Given the description of an element on the screen output the (x, y) to click on. 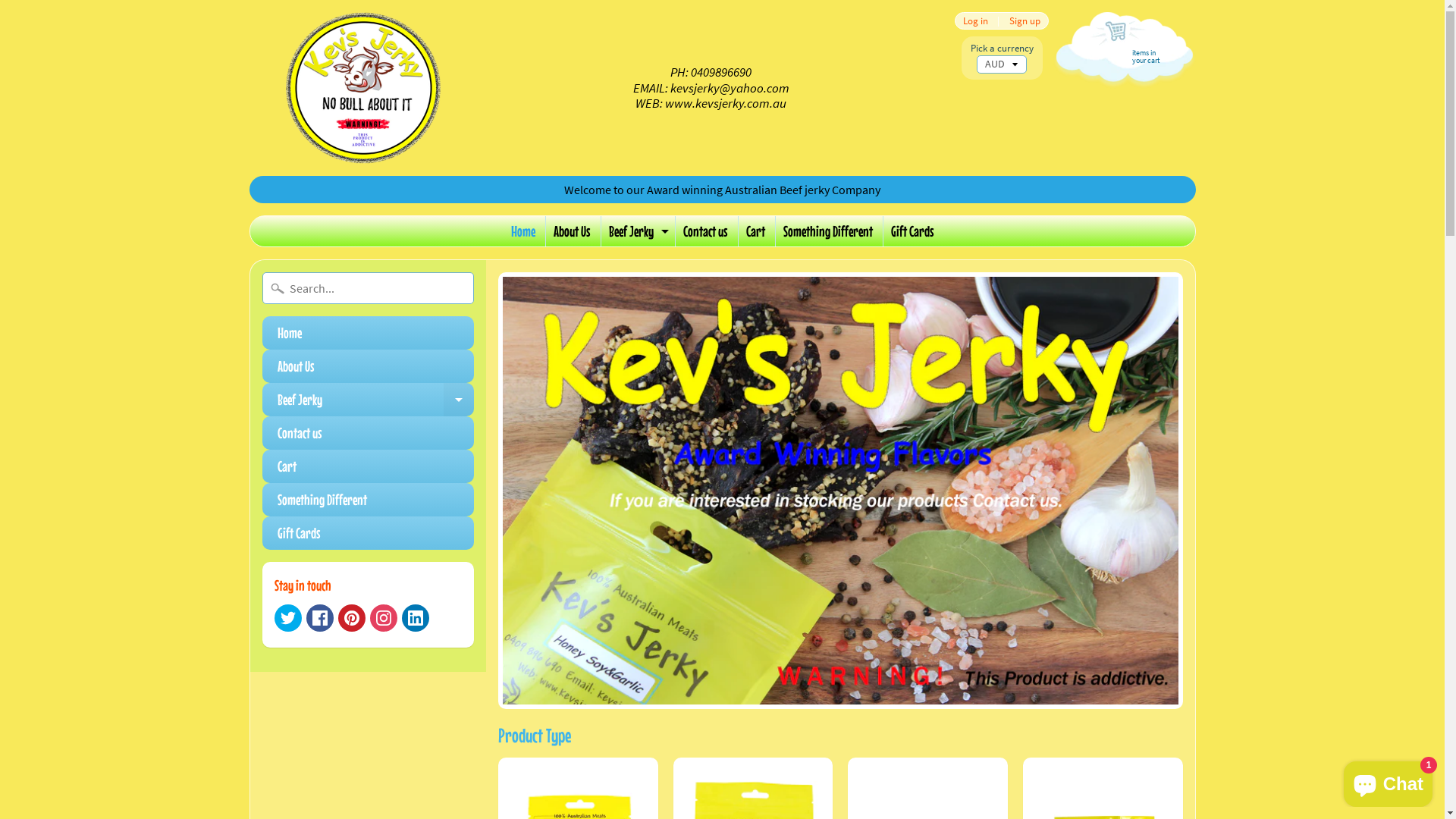
Shopify online store chat Element type: hover (1388, 780)
Beef Jerky
Expand child menu Element type: text (635, 231)
Home Element type: text (368, 332)
About Us Element type: text (572, 231)
Log in Element type: text (974, 20)
Expand child menu Element type: text (458, 399)
Something Different Element type: text (368, 499)
items in your cart Element type: text (1122, 56)
Pinterest Element type: hover (351, 617)
Gift Cards Element type: text (911, 231)
Gift Cards Element type: text (368, 532)
Expand child menu Element type: text (663, 231)
Sign up Element type: text (1024, 20)
Cart Element type: text (368, 466)
Home Element type: text (522, 231)
Instagram Element type: hover (383, 617)
Contact us Element type: text (368, 432)
LinkedIn Element type: hover (415, 617)
Kevs Jerky Element type: hover (362, 87)
Beef Jerky
Expand child menu Element type: text (368, 399)
Contact us Element type: text (704, 231)
About Us Element type: text (368, 365)
Something Different Element type: text (827, 231)
Facebook Element type: hover (319, 617)
Cart Element type: text (755, 231)
Twitter Element type: hover (287, 617)
